Given the description of an element on the screen output the (x, y) to click on. 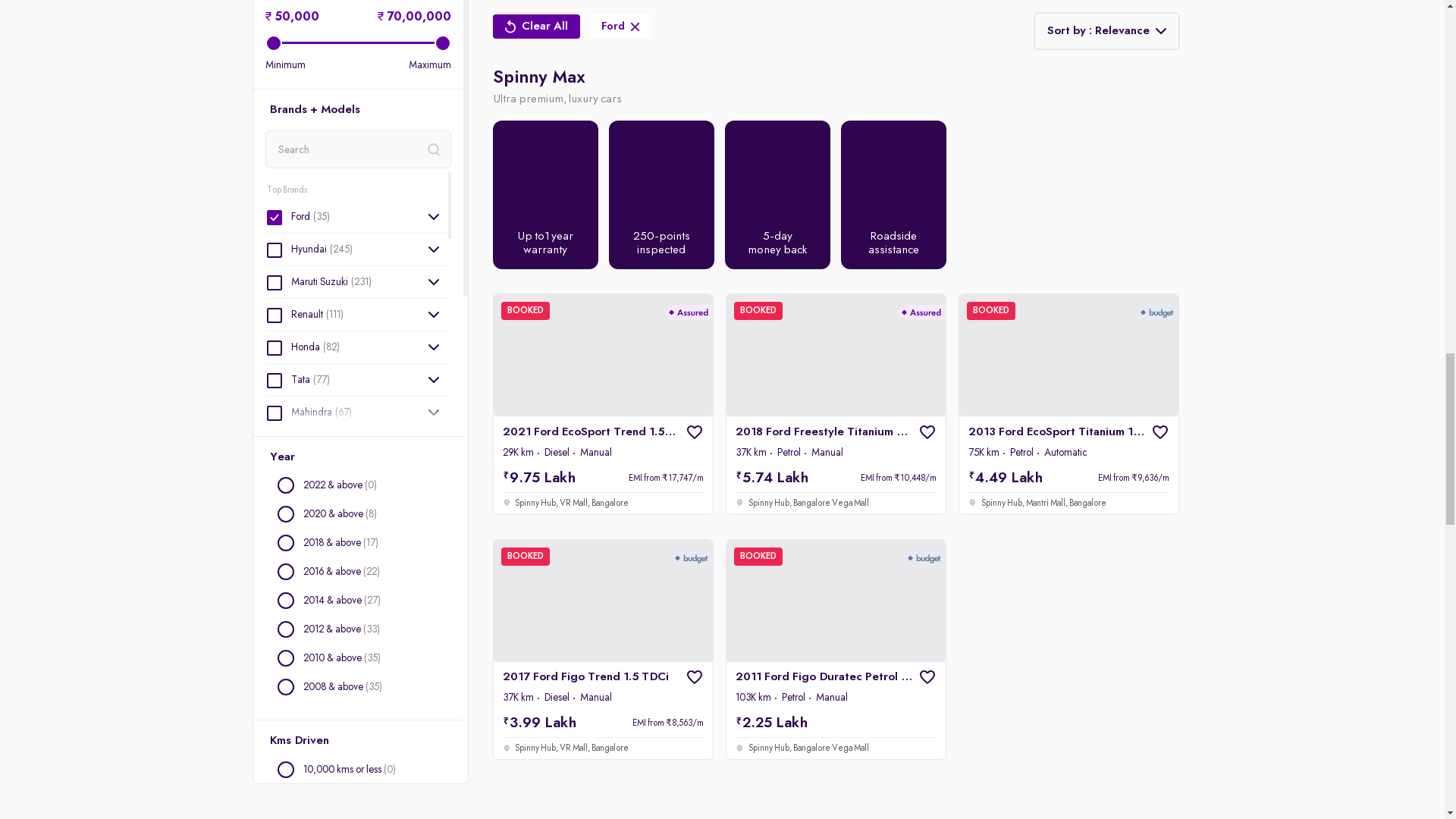
2017 Ford Figo Titanium1.5 TDCi (835, 18)
2018 Ford EcoSport Titanium 1.5L Ti-VCT (1068, 18)
2015 Ford EcoSport Trend 1.5L TDCi (603, 18)
2018 Ford Freestyle Titanium Plus 1.2 Ti-VCT (835, 404)
2021 Ford EcoSport Trend 1.5L TDCi (603, 404)
